Given the description of an element on the screen output the (x, y) to click on. 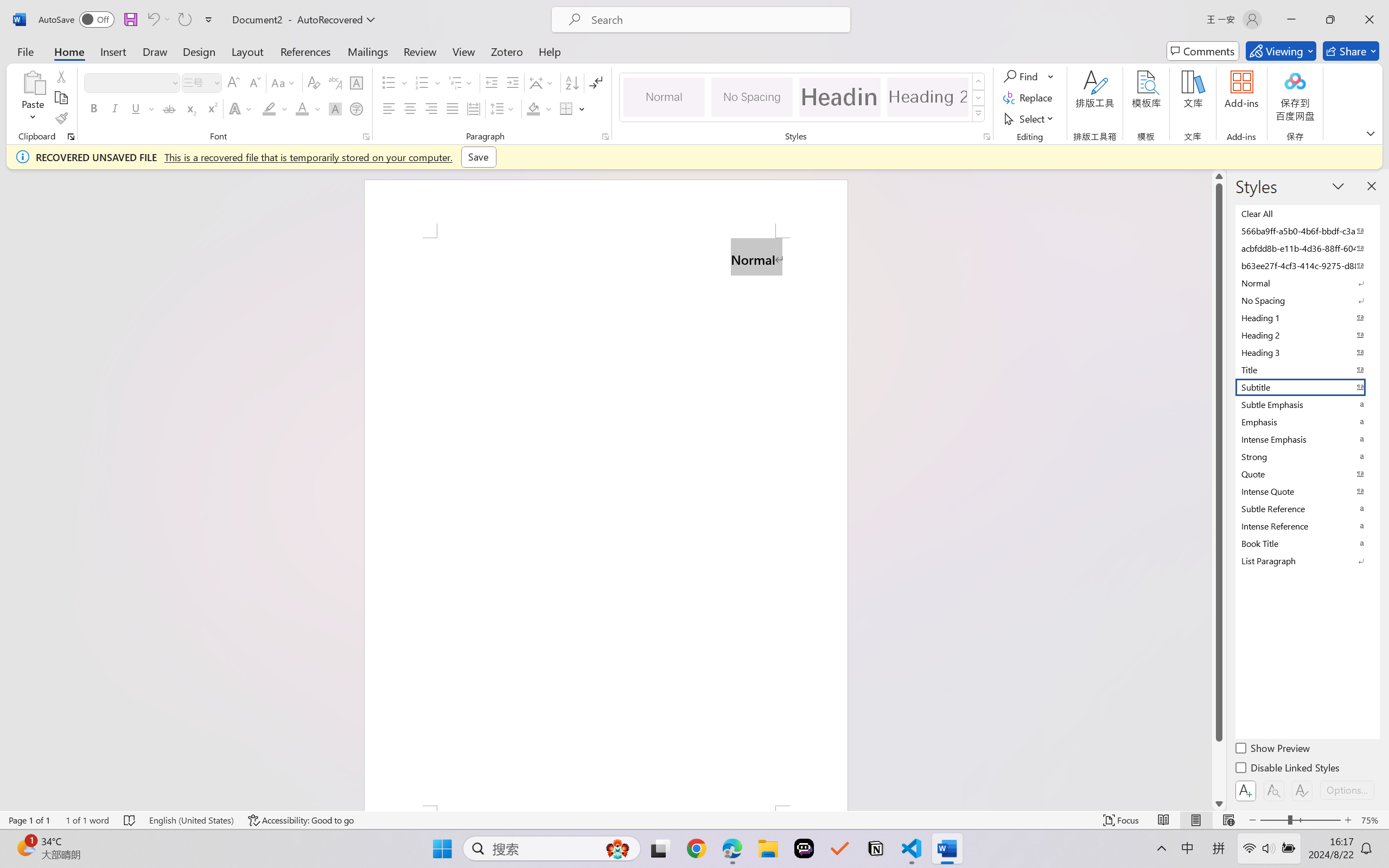
Bold (94, 108)
Font Color (308, 108)
Subtle Emphasis (1306, 404)
Microsoft search (715, 19)
Intense Reference (1306, 525)
Can't Repeat (184, 19)
Replace... (1029, 97)
